Given the description of an element on the screen output the (x, y) to click on. 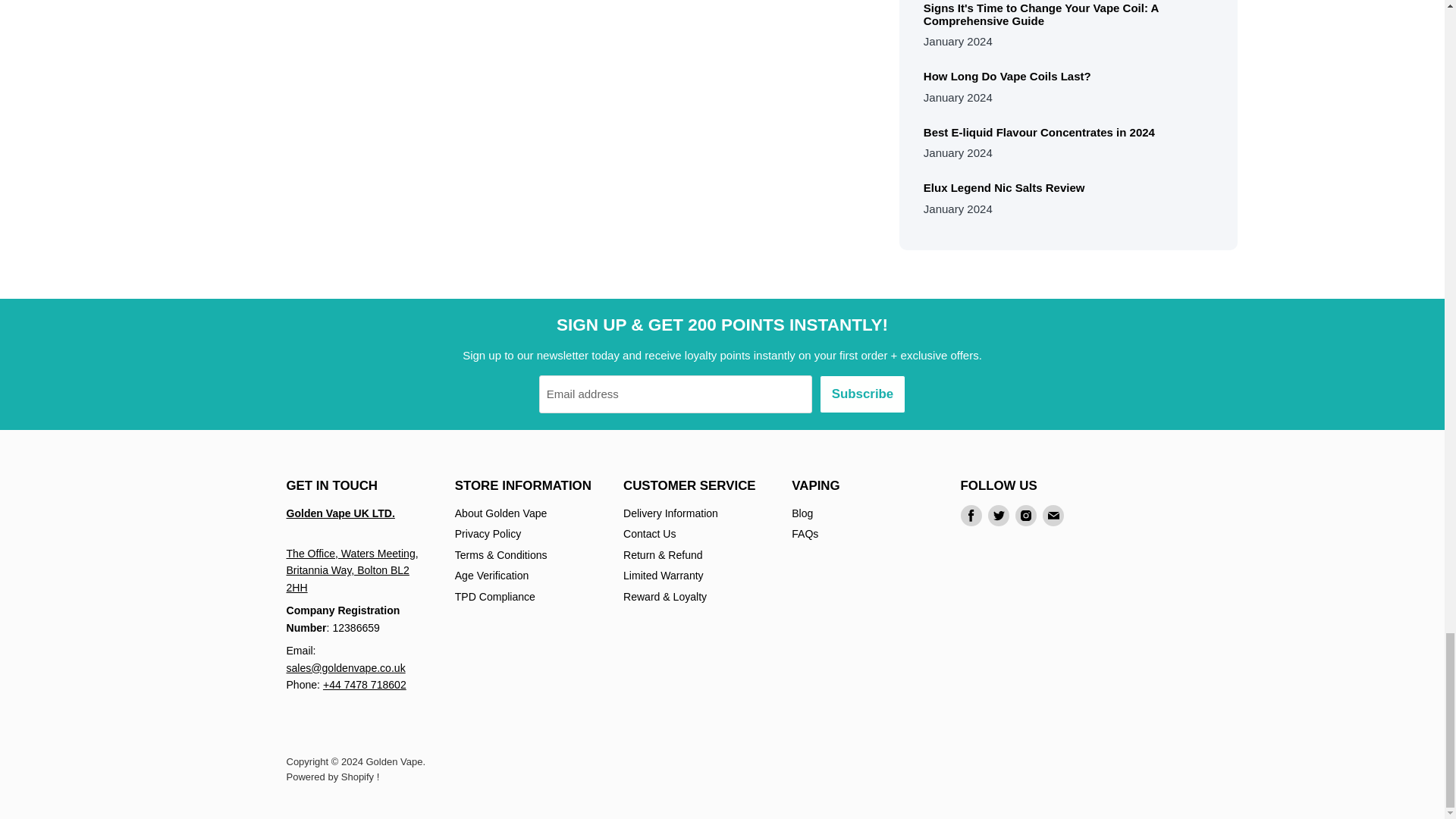
Facebook (970, 515)
Twitter (998, 515)
Email (1052, 515)
Instagram (1024, 515)
